Given the description of an element on the screen output the (x, y) to click on. 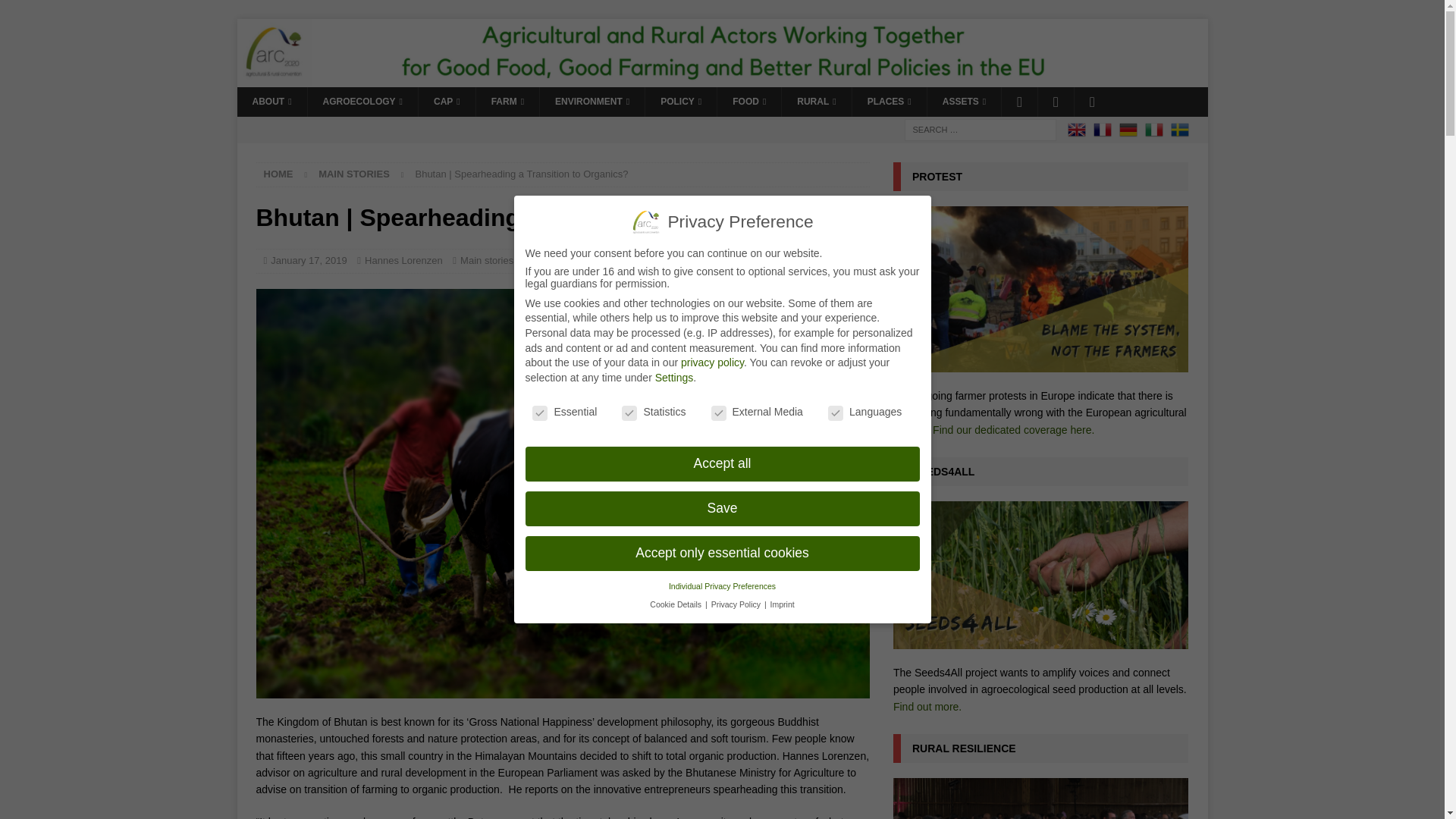
Agricultural and Rural Convention (721, 78)
Main stories (354, 173)
Home (278, 173)
